Given the description of an element on the screen output the (x, y) to click on. 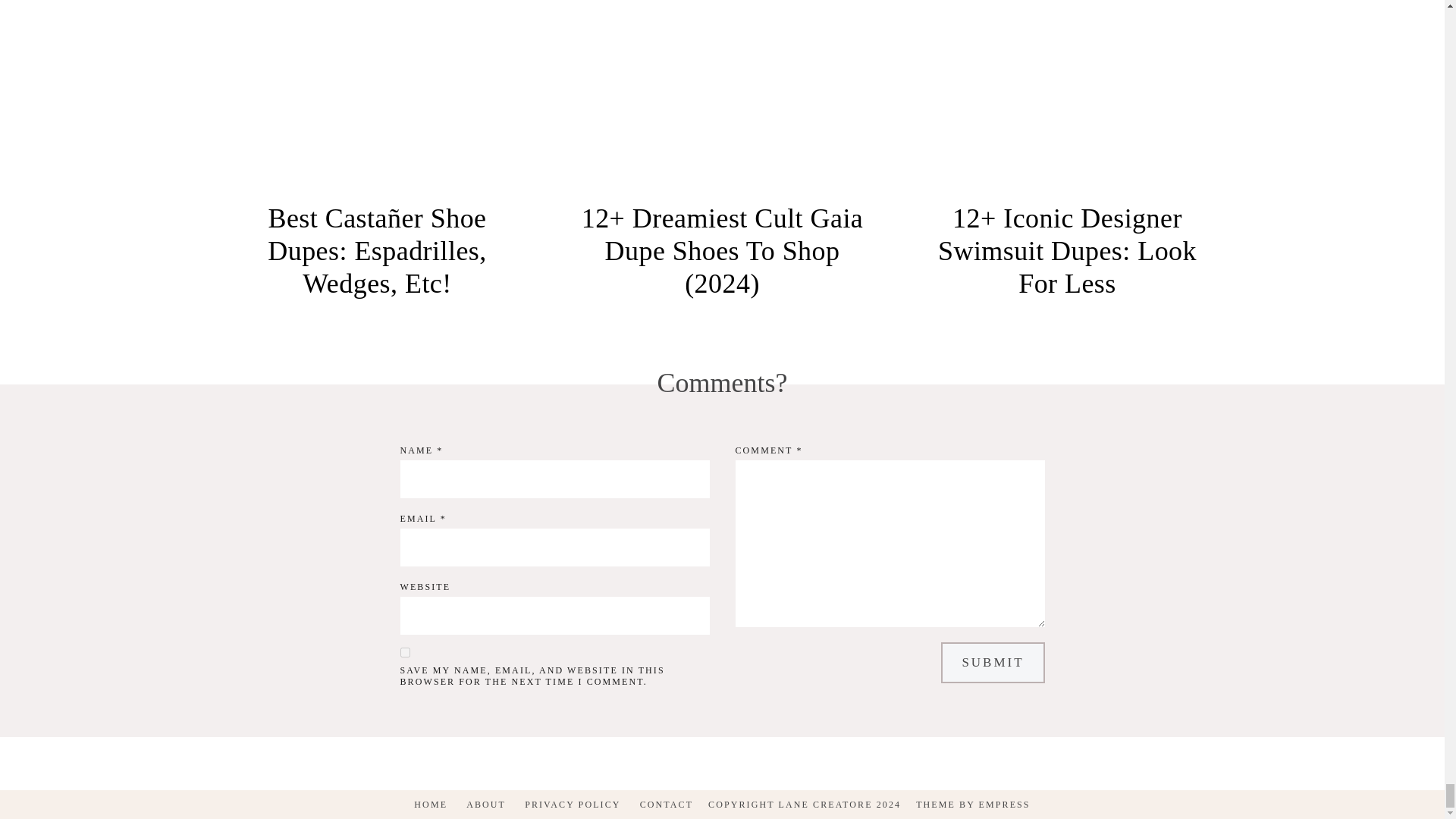
yes (405, 652)
Submit (991, 662)
